Given the description of an element on the screen output the (x, y) to click on. 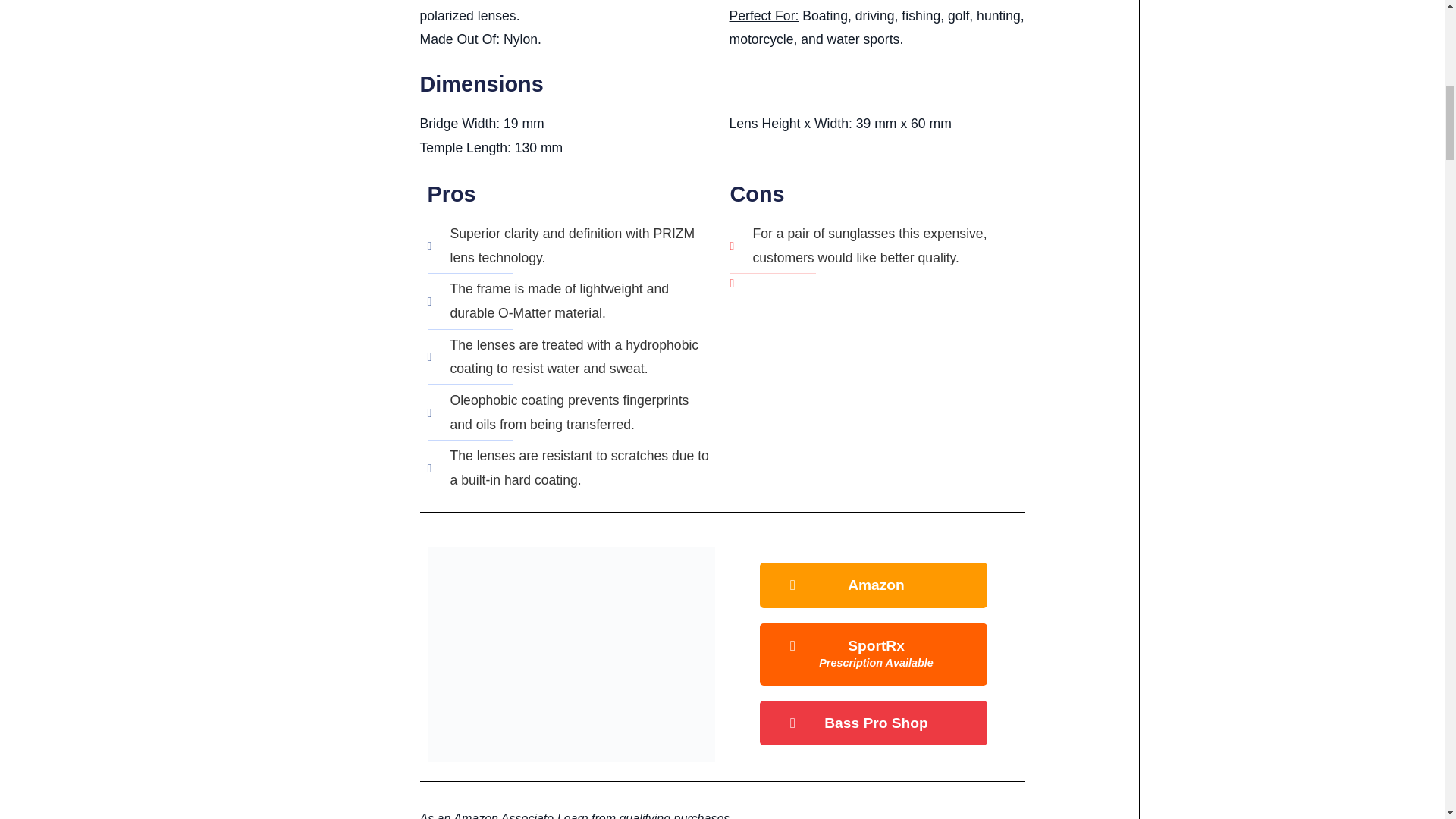
Amazon (873, 584)
Bass Pro Shop (873, 654)
